Given the description of an element on the screen output the (x, y) to click on. 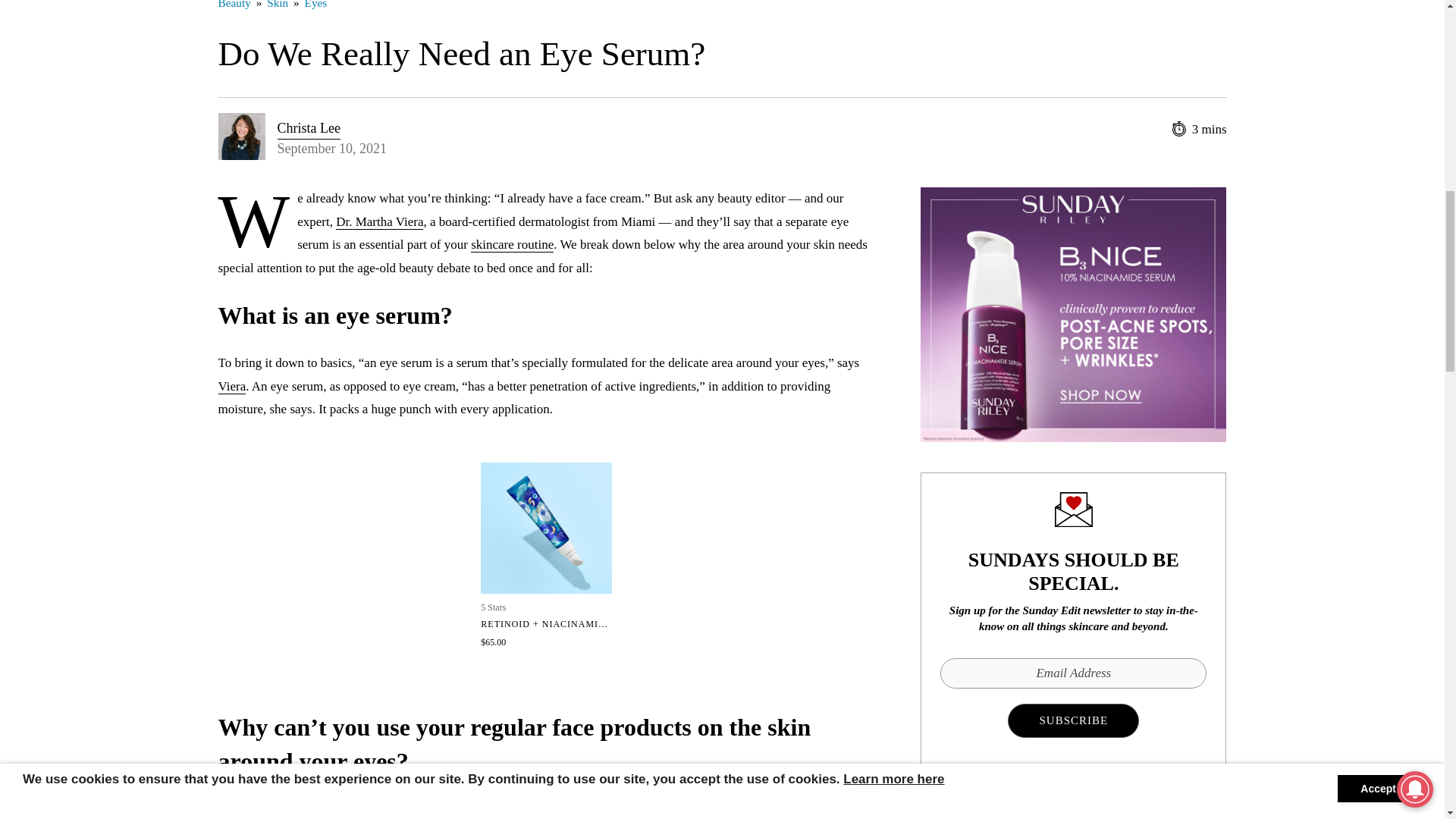
Skin (277, 4)
Beauty (234, 4)
